Given the description of an element on the screen output the (x, y) to click on. 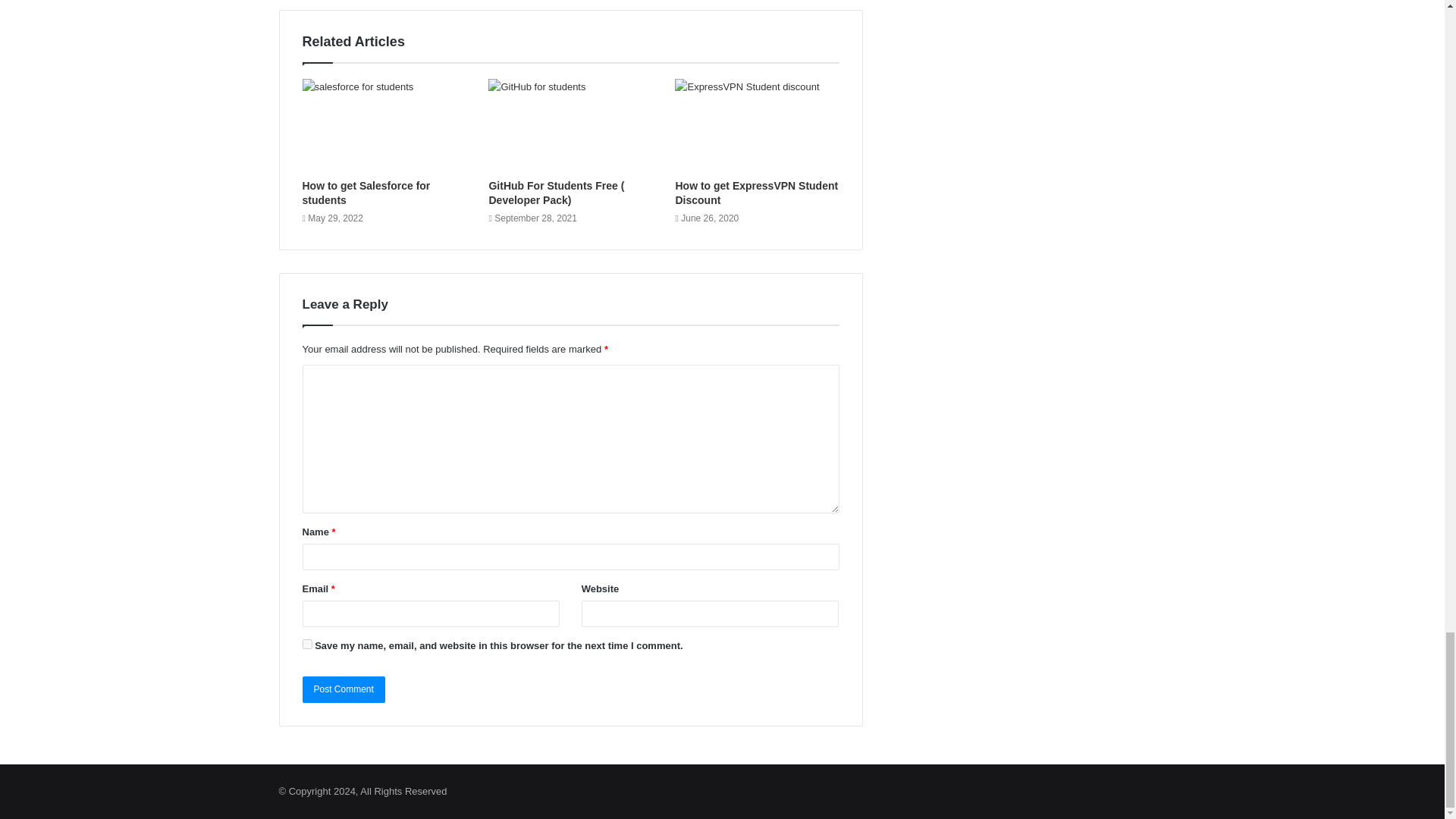
How to get Salesforce for students (383, 124)
yes (306, 644)
How to get Salesforce for students (365, 192)
Post Comment (342, 689)
